Given the description of an element on the screen output the (x, y) to click on. 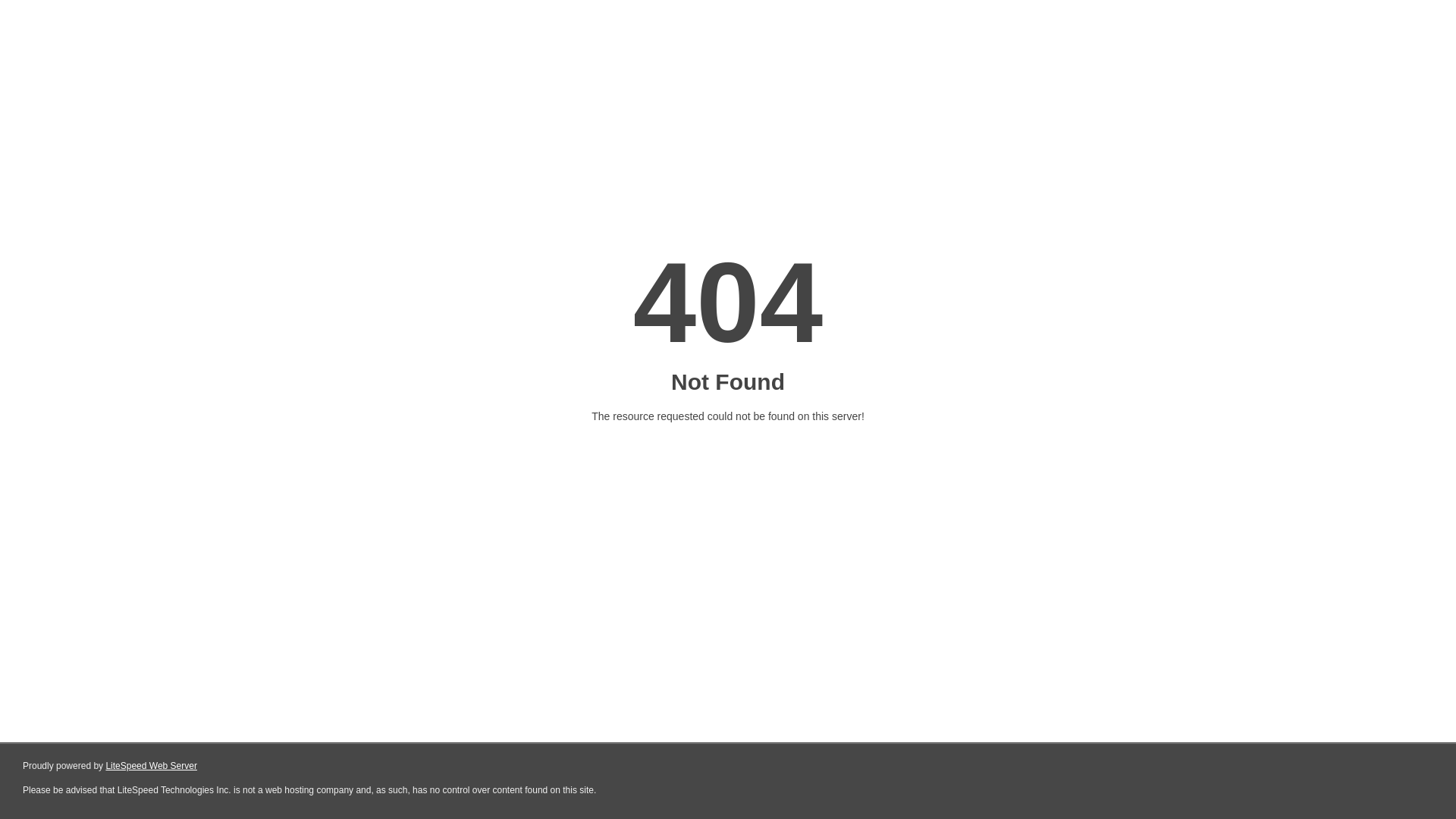
LiteSpeed Web Server Element type: text (151, 765)
